Given the description of an element on the screen output the (x, y) to click on. 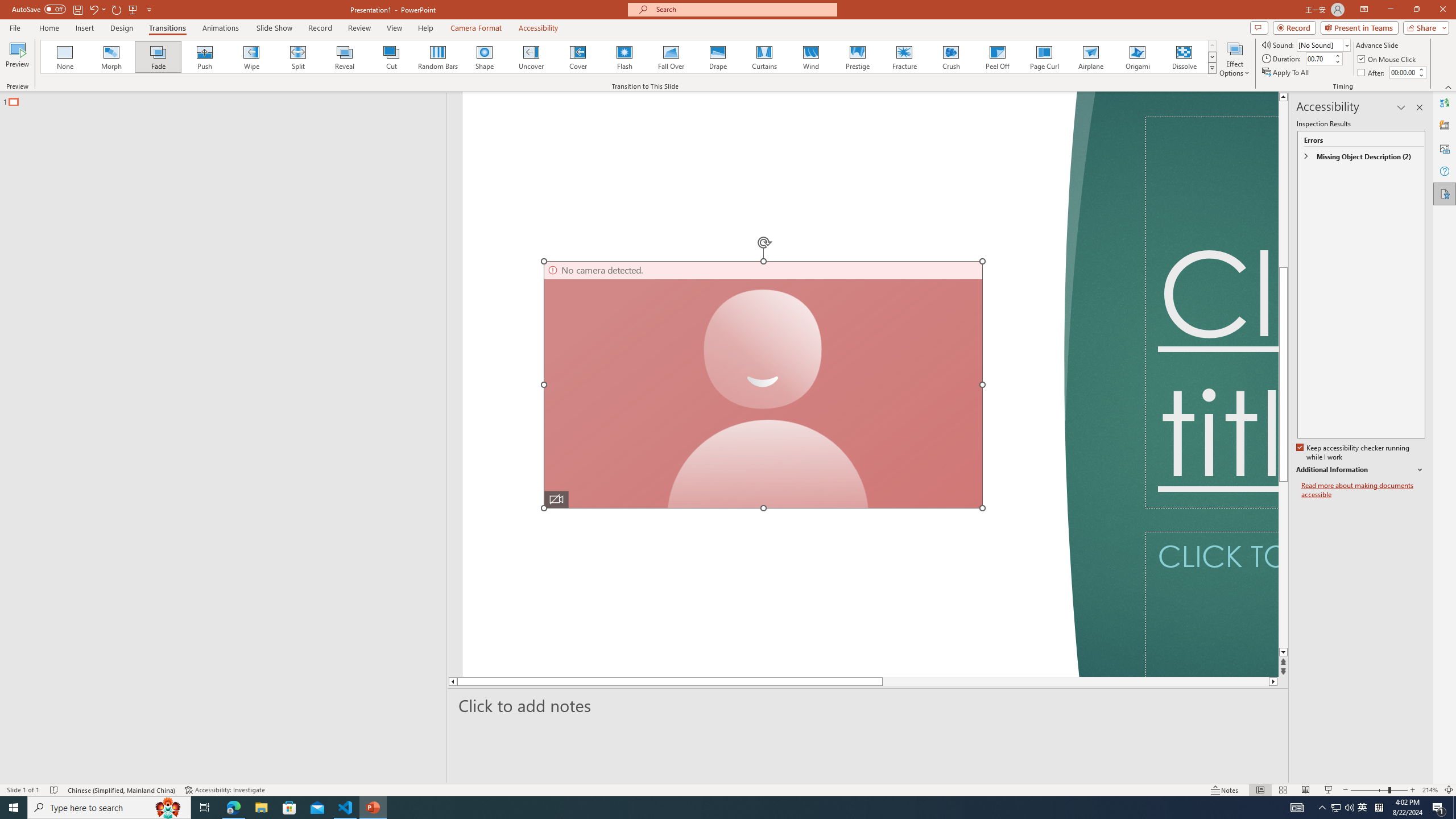
Uncover (531, 56)
Sound (1324, 44)
Translator (1444, 102)
Origami (1136, 56)
Dissolve (1183, 56)
More (1420, 69)
